Given the description of an element on the screen output the (x, y) to click on. 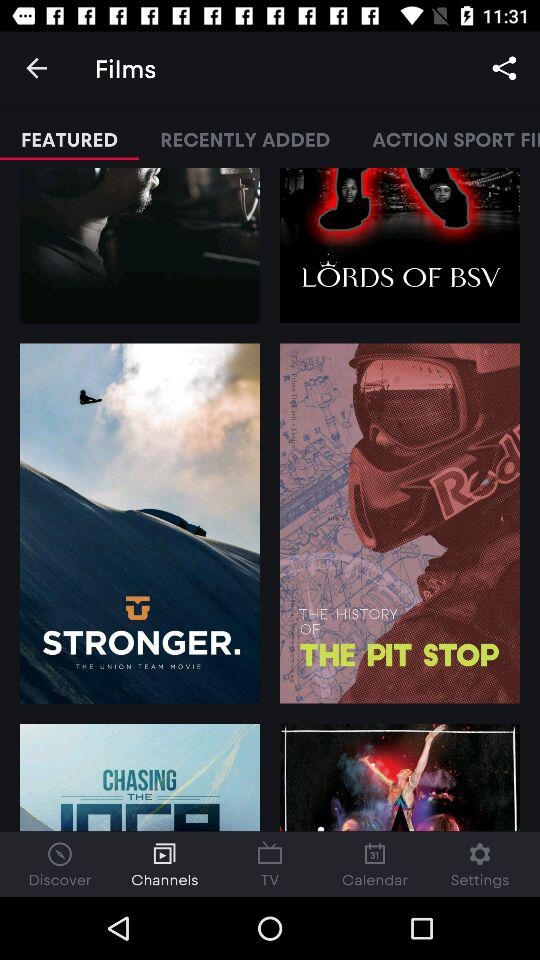
tap the icon to the left of the films (36, 68)
